Given the description of an element on the screen output the (x, y) to click on. 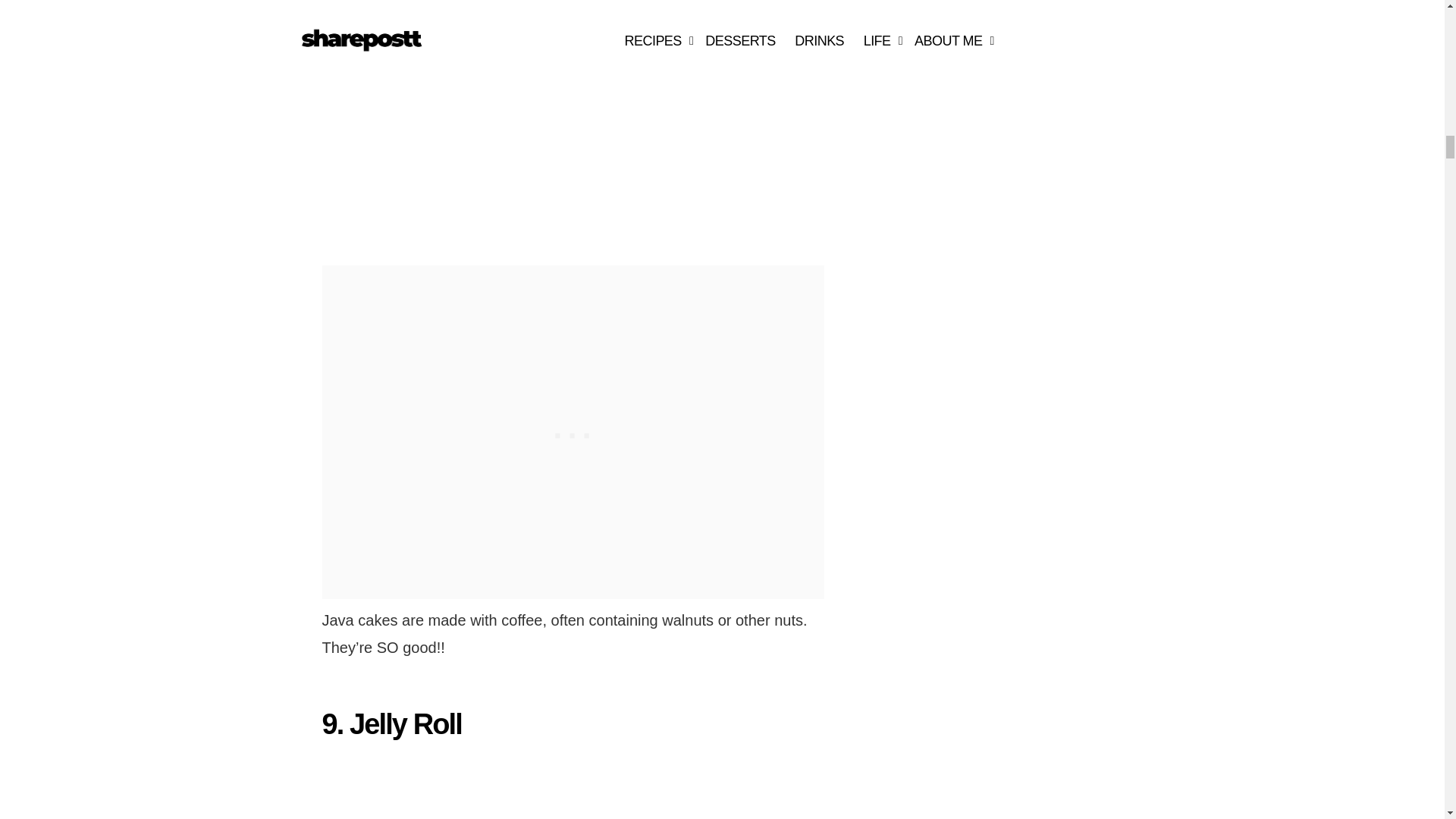
Homemade Jaffa Cakes (491, 120)
Old-Fashioned Jelly Roll (491, 788)
